Given the description of an element on the screen output the (x, y) to click on. 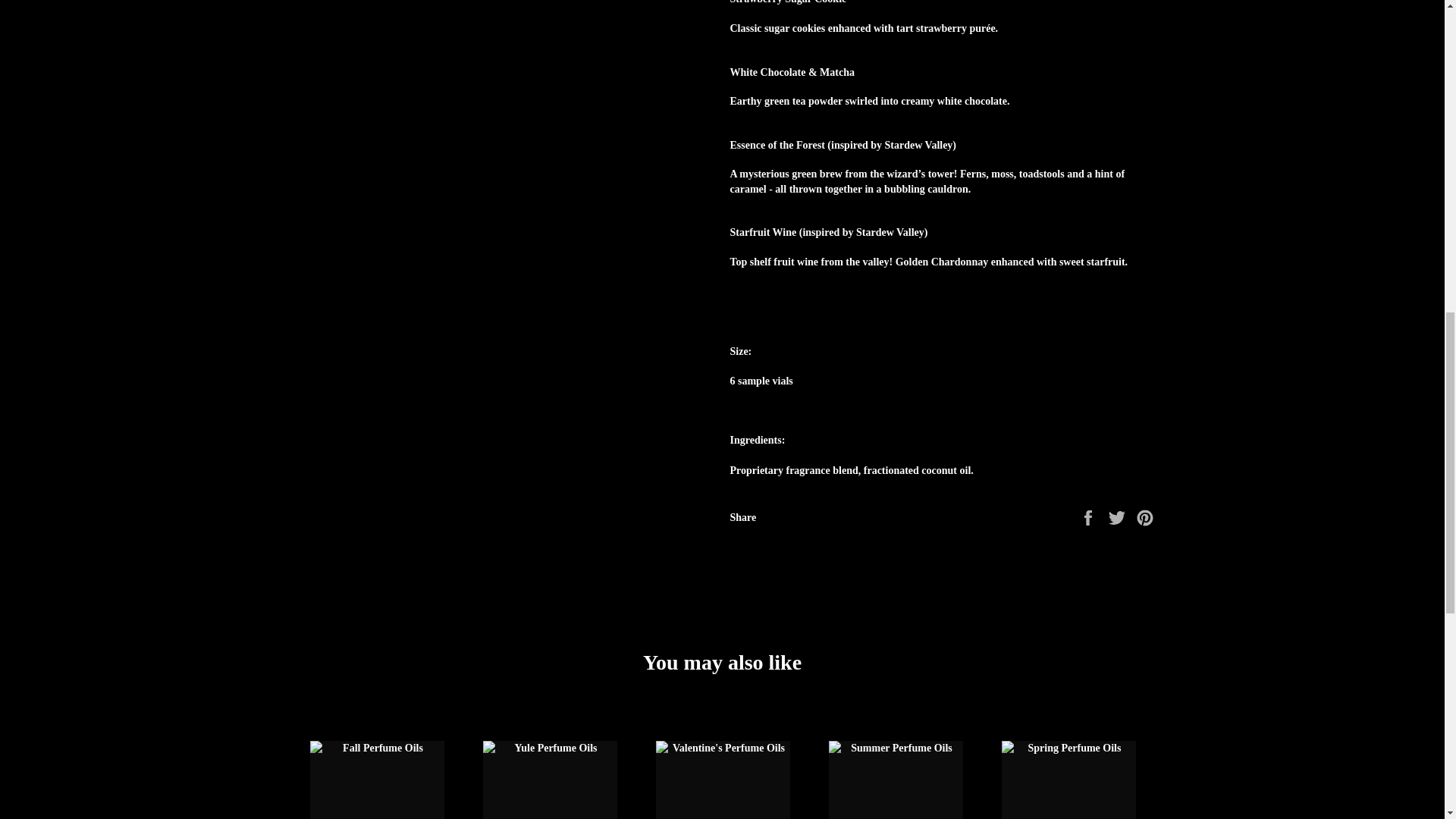
Share on Facebook (1089, 516)
Pin on Pinterest (1144, 516)
Tweet on Twitter (1118, 516)
